Given the description of an element on the screen output the (x, y) to click on. 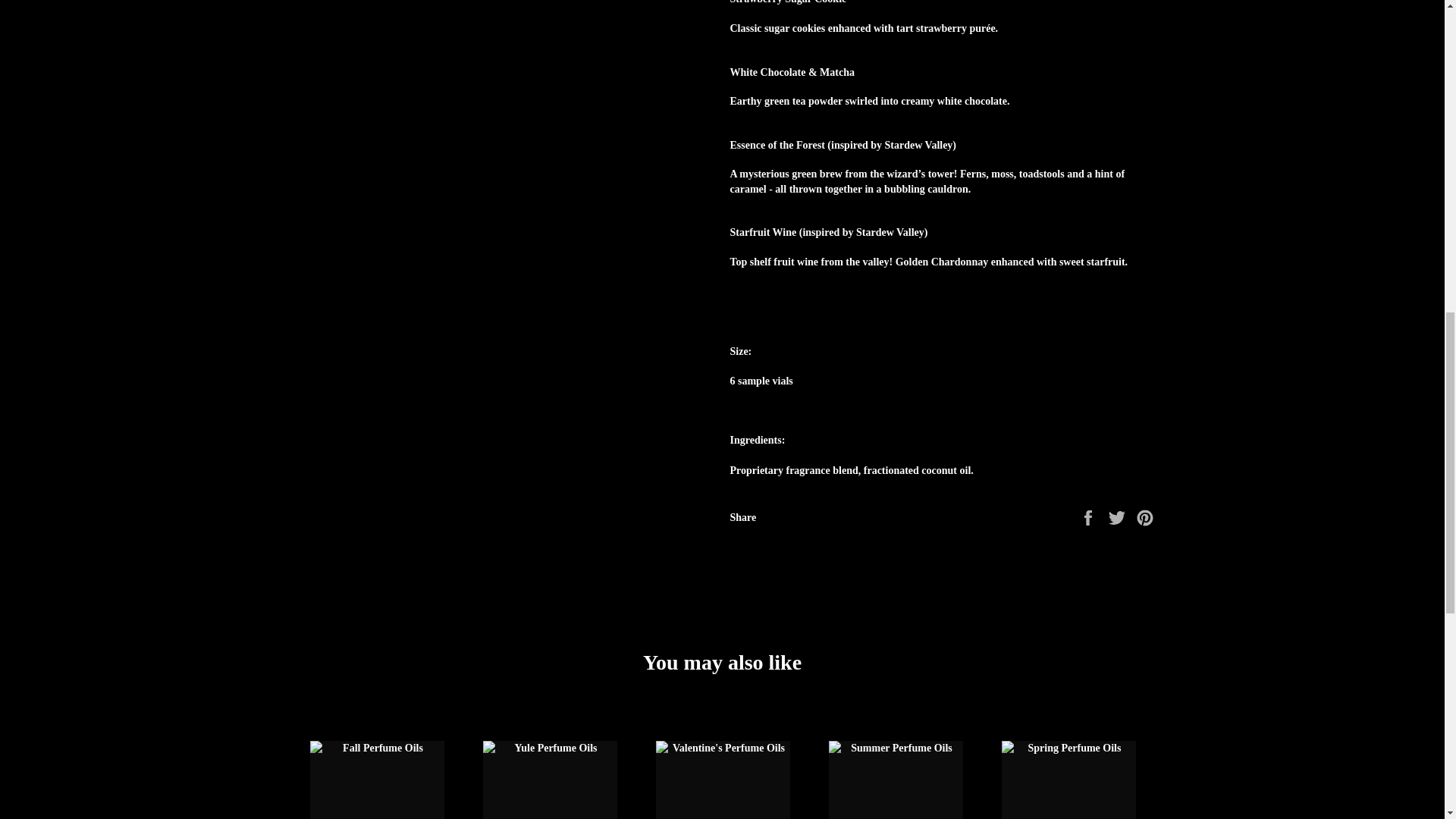
Share on Facebook (1089, 516)
Pin on Pinterest (1144, 516)
Tweet on Twitter (1118, 516)
